Given the description of an element on the screen output the (x, y) to click on. 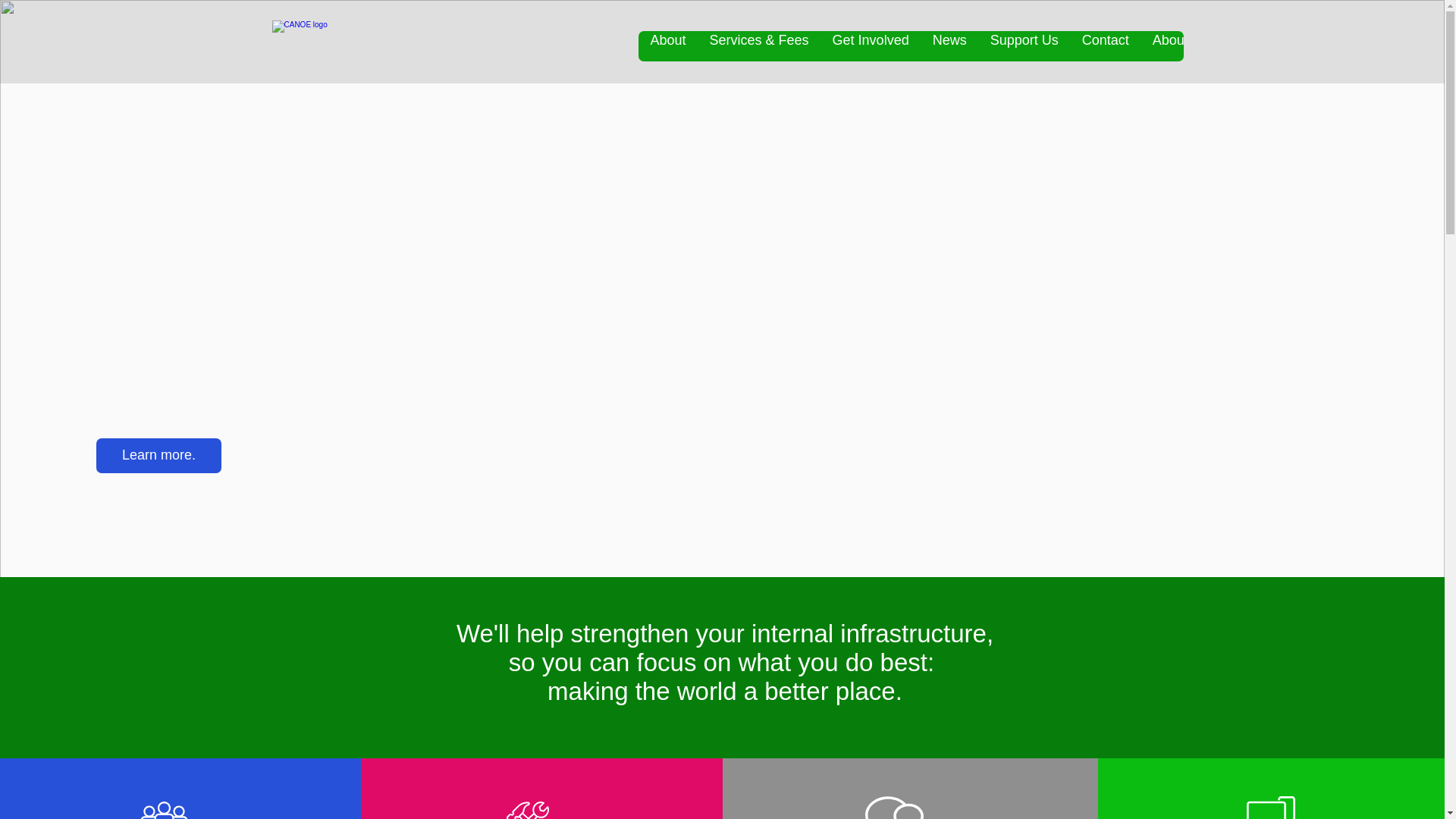
Contact (1105, 46)
Support Us (1024, 46)
News (949, 46)
Learn more. (158, 455)
